Given the description of an element on the screen output the (x, y) to click on. 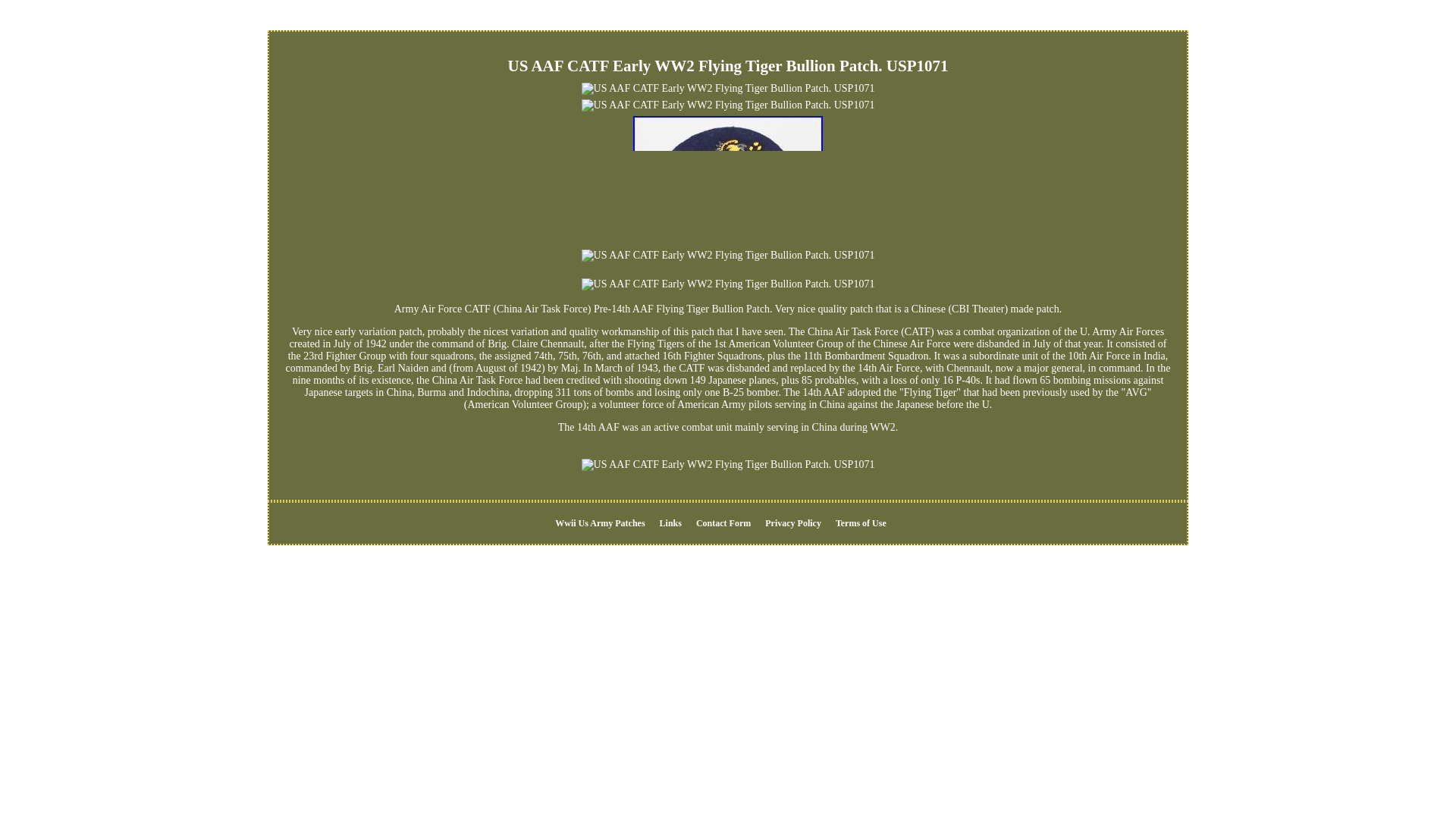
US AAF CATF Early WW2 Flying Tiger Bullion Patch. USP1071 (727, 284)
US AAF CATF Early WW2 Flying Tiger Bullion Patch. USP1071 (727, 255)
US AAF CATF Early WW2 Flying Tiger Bullion Patch. USP1071 (727, 178)
US AAF CATF Early WW2 Flying Tiger Bullion Patch. USP1071 (727, 88)
US AAF CATF Early WW2 Flying Tiger Bullion Patch. USP1071 (727, 105)
US AAF CATF Early WW2 Flying Tiger Bullion Patch. USP1071 (727, 464)
